Given the description of an element on the screen output the (x, y) to click on. 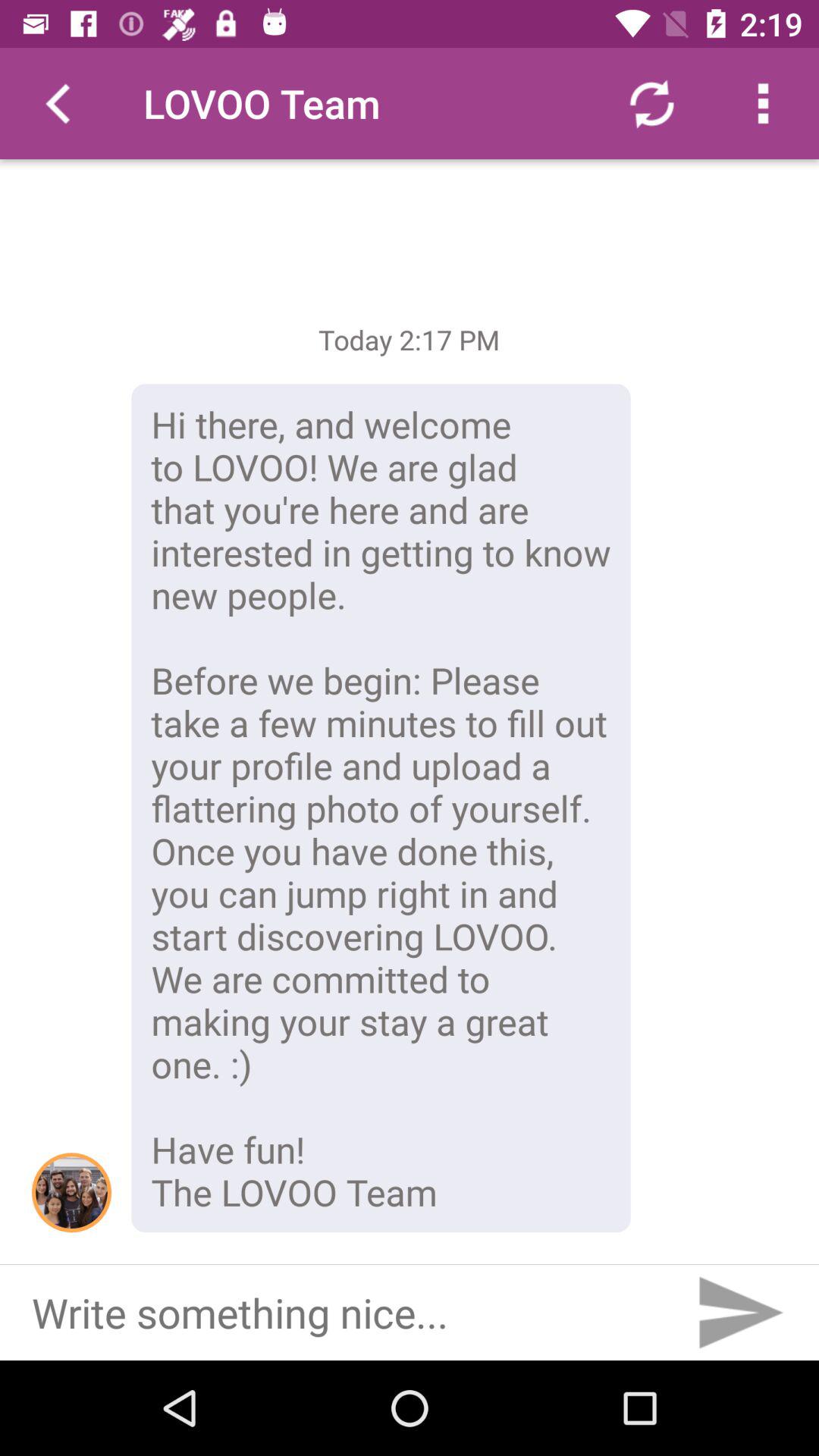
launch the item to the right of lovoo team item (651, 103)
